Given the description of an element on the screen output the (x, y) to click on. 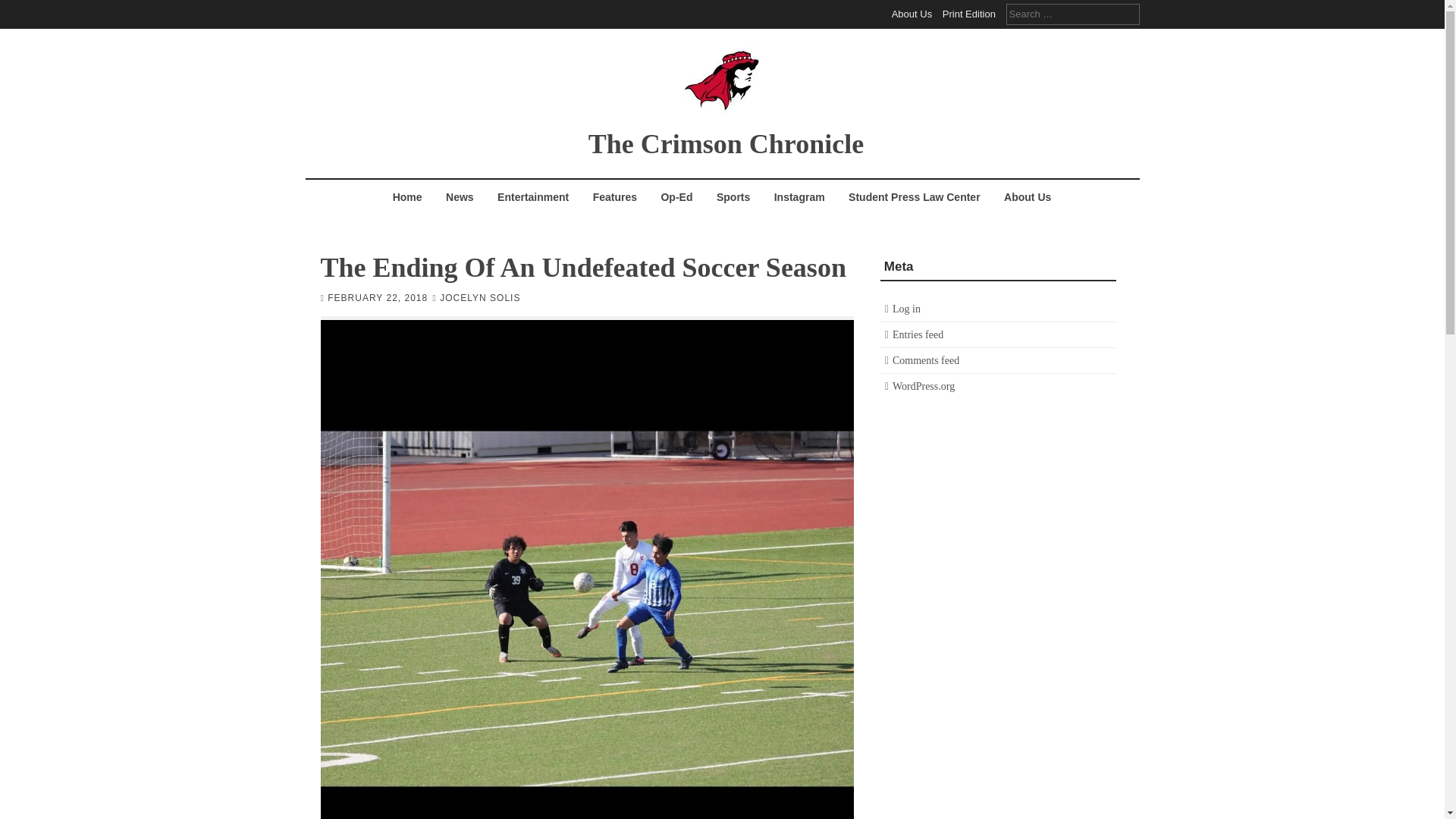
About Us (911, 13)
Student Press Law Center (914, 196)
The Crimson Chronicle (725, 143)
Entries feed (917, 334)
Sports (733, 196)
JOCELYN SOLIS (479, 297)
Features (614, 196)
Op-Ed (675, 196)
Print Edition (968, 13)
Entertainment (532, 196)
